Given the description of an element on the screen output the (x, y) to click on. 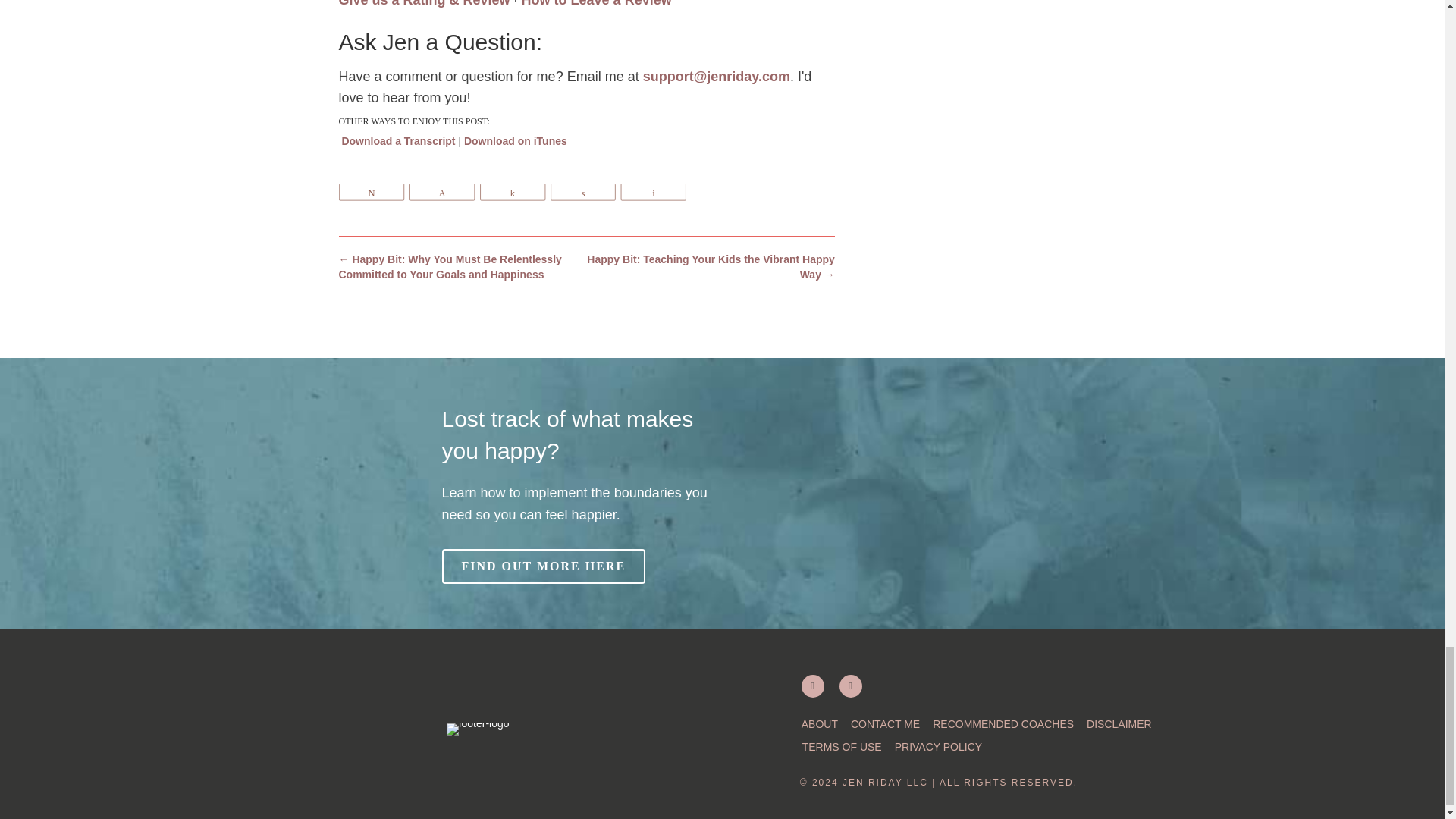
Download a Transcript (397, 141)
Facebook (850, 685)
footer-logo (477, 727)
Instagram (813, 685)
How to Leave a Review (596, 3)
Download on iTunes (515, 141)
